Given the description of an element on the screen output the (x, y) to click on. 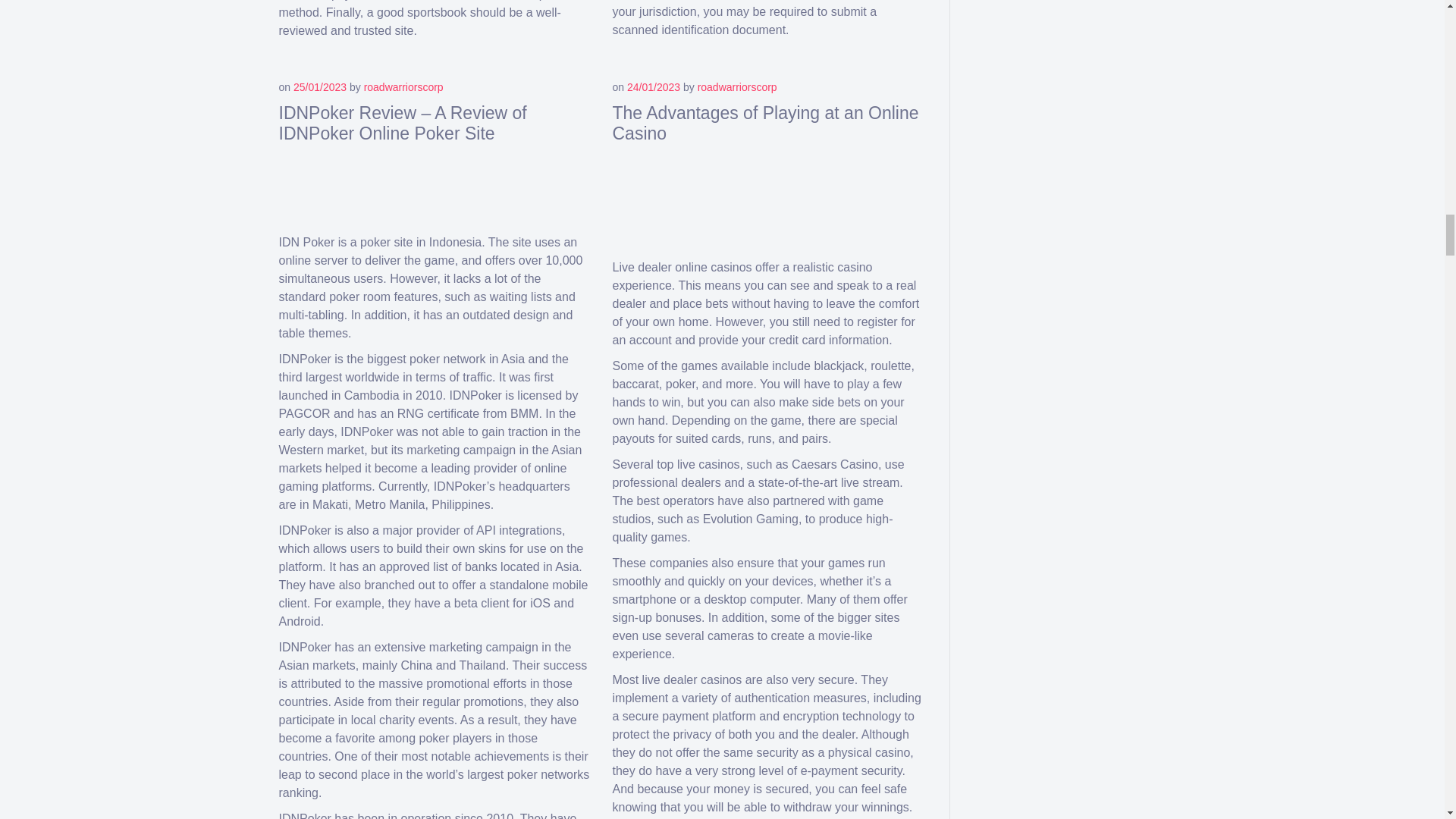
roadwarriorscorp (737, 87)
roadwarriorscorp (404, 87)
The Advantages of Playing at an Online Casino (765, 123)
